Given the description of an element on the screen output the (x, y) to click on. 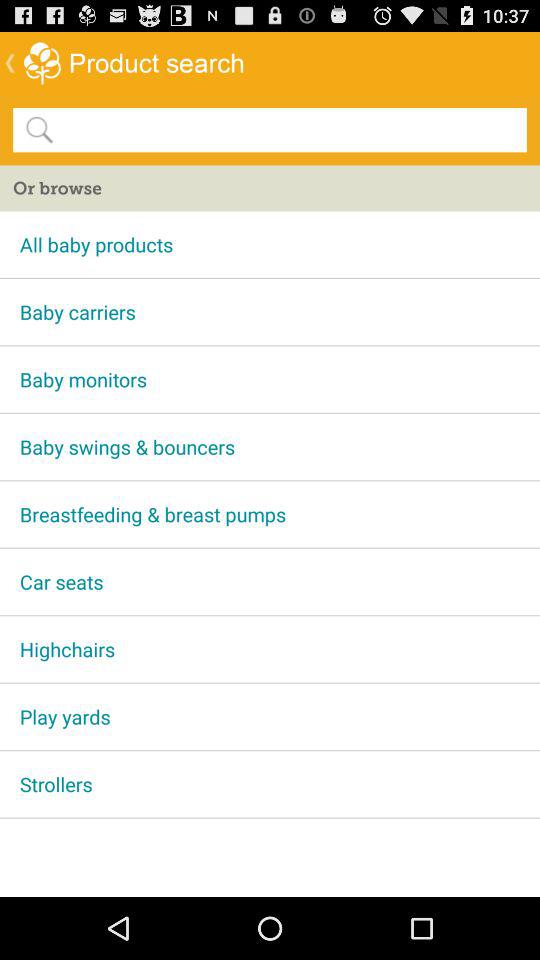
click to search option (289, 129)
